Given the description of an element on the screen output the (x, y) to click on. 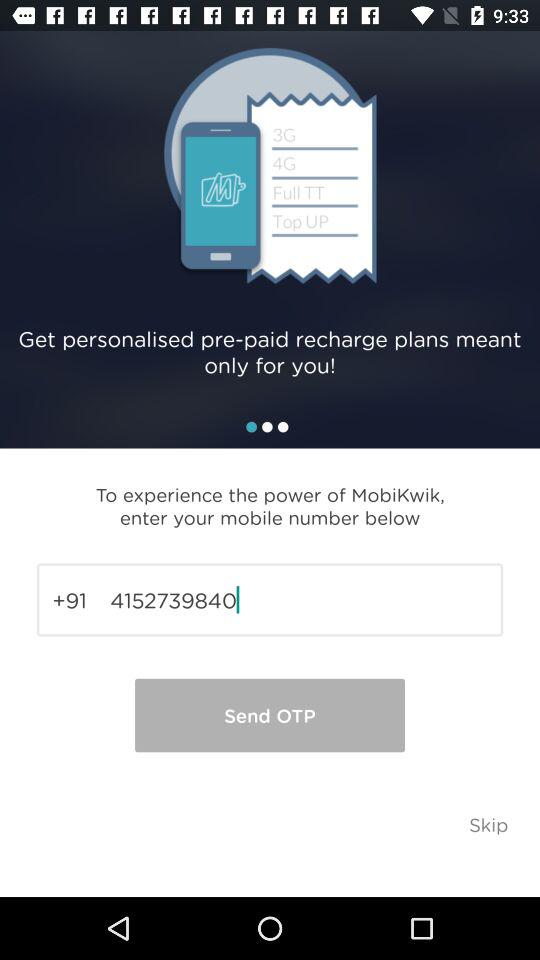
open the icon above send otp (269, 599)
